Given the description of an element on the screen output the (x, y) to click on. 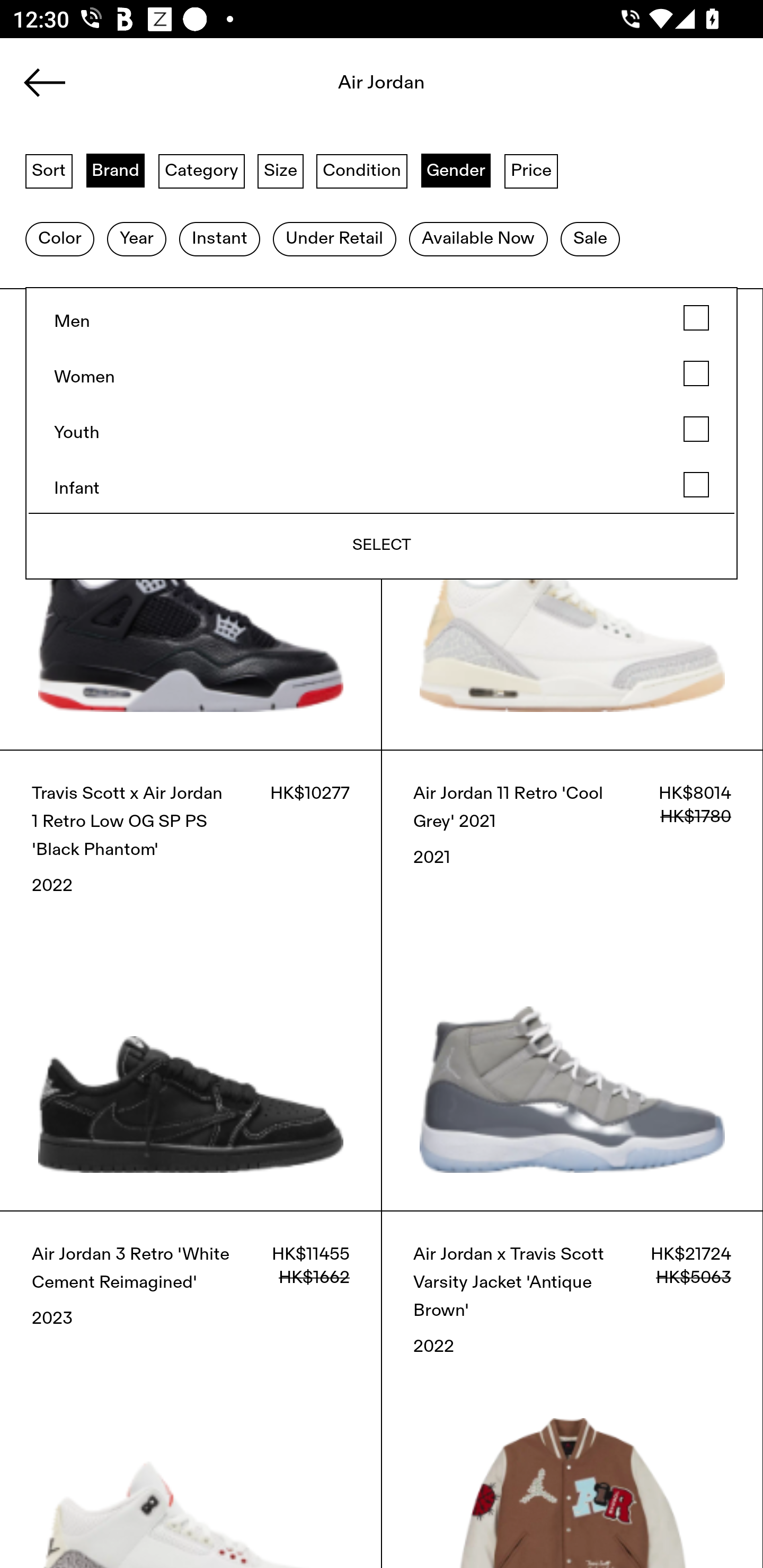
Sort (48, 170)
Brand (115, 170)
Category (201, 170)
Size (280, 170)
Condition (361, 170)
Gender (455, 170)
Price (530, 170)
Color (59, 239)
Year (136, 239)
Instant (219, 239)
Under Retail (334, 239)
Available Now (477, 239)
Sale (589, 239)
Men (381, 318)
Women (381, 373)
Youth (381, 429)
Infant (381, 484)
SELECT (381, 545)
